Given the description of an element on the screen output the (x, y) to click on. 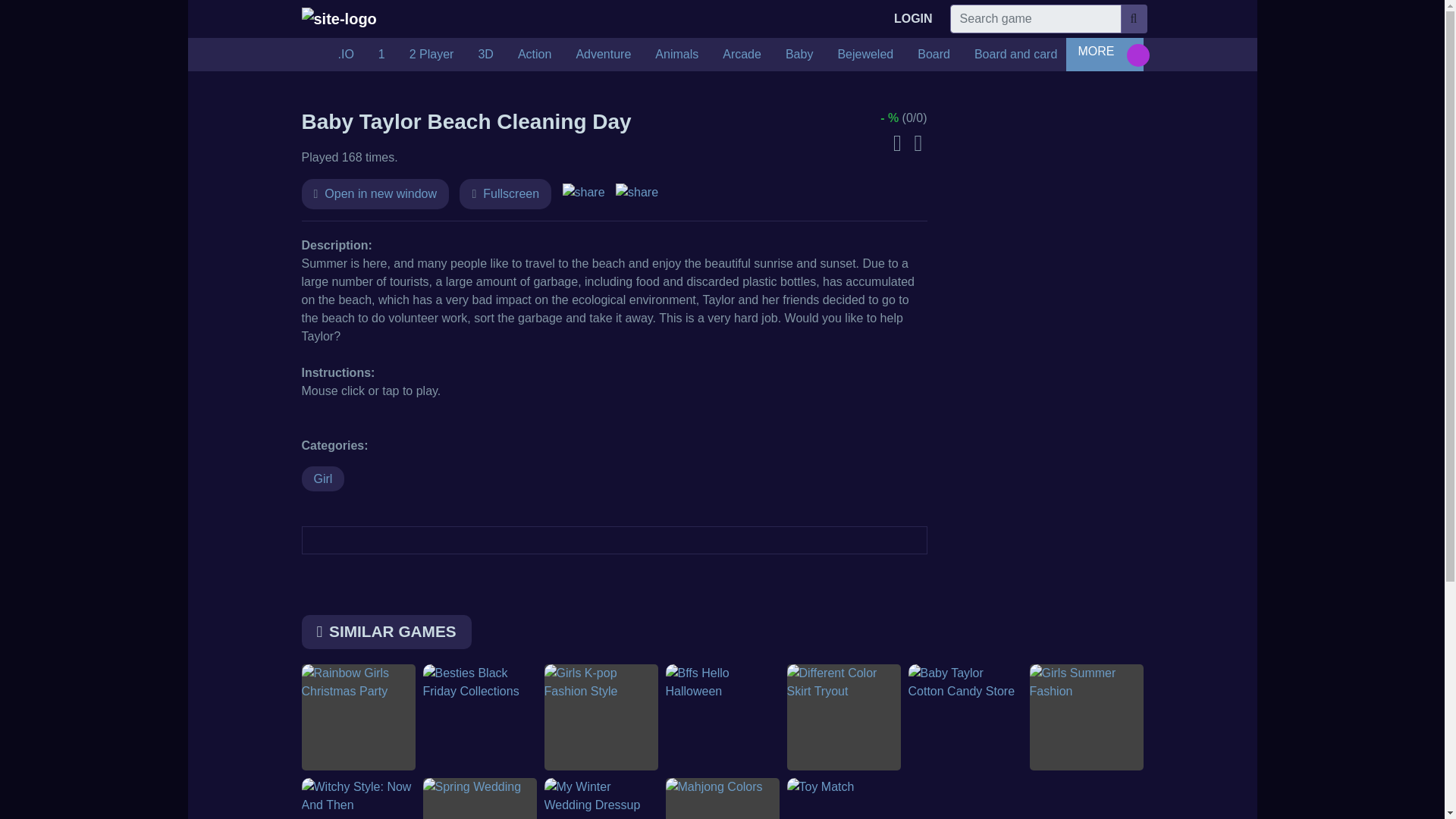
LOGIN (913, 19)
Adventure (603, 54)
Baby (799, 54)
.IO (346, 54)
Arcade (741, 54)
Action (534, 54)
Board (933, 54)
1 (381, 54)
Animals (676, 54)
2 Player (431, 54)
